Given the description of an element on the screen output the (x, y) to click on. 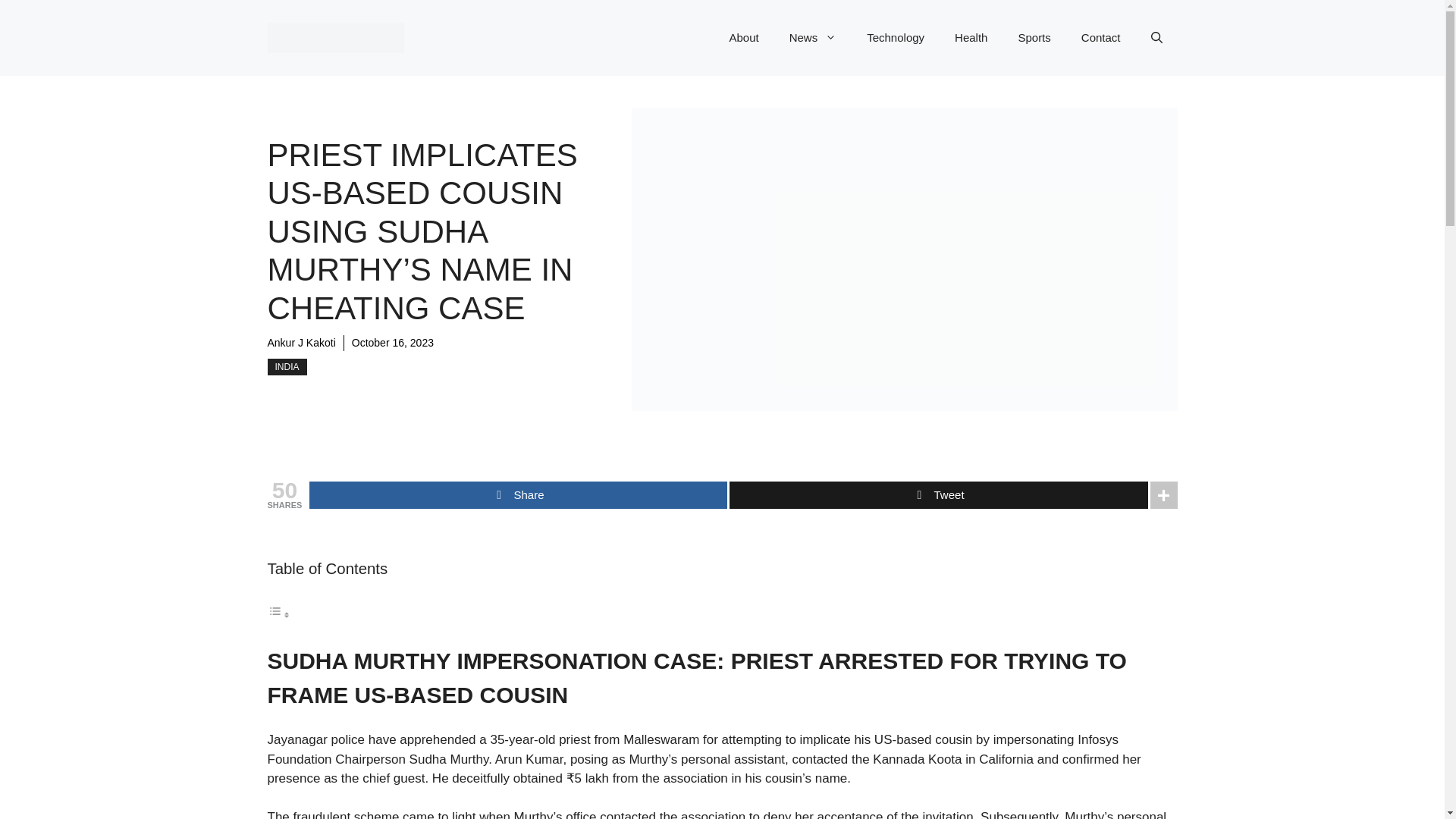
Health (971, 37)
Contact (1100, 37)
Technology (895, 37)
About (743, 37)
Ankur J Kakoti (300, 342)
Sports (1034, 37)
Share (517, 494)
Tweet (938, 494)
News (812, 37)
INDIA (285, 366)
